Given the description of an element on the screen output the (x, y) to click on. 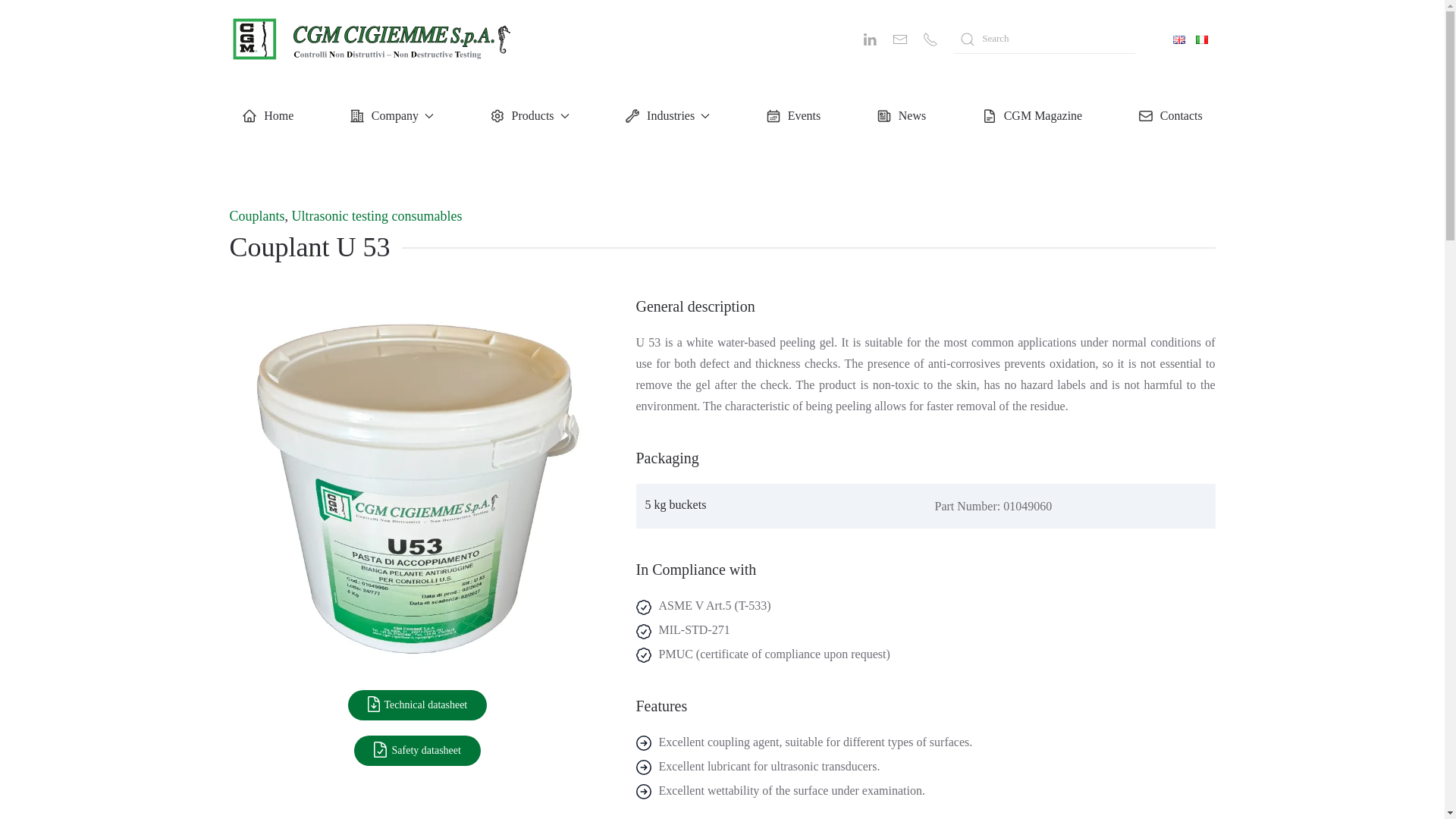
Home (266, 115)
Products (529, 115)
Industries (666, 115)
Company (391, 115)
